Given the description of an element on the screen output the (x, y) to click on. 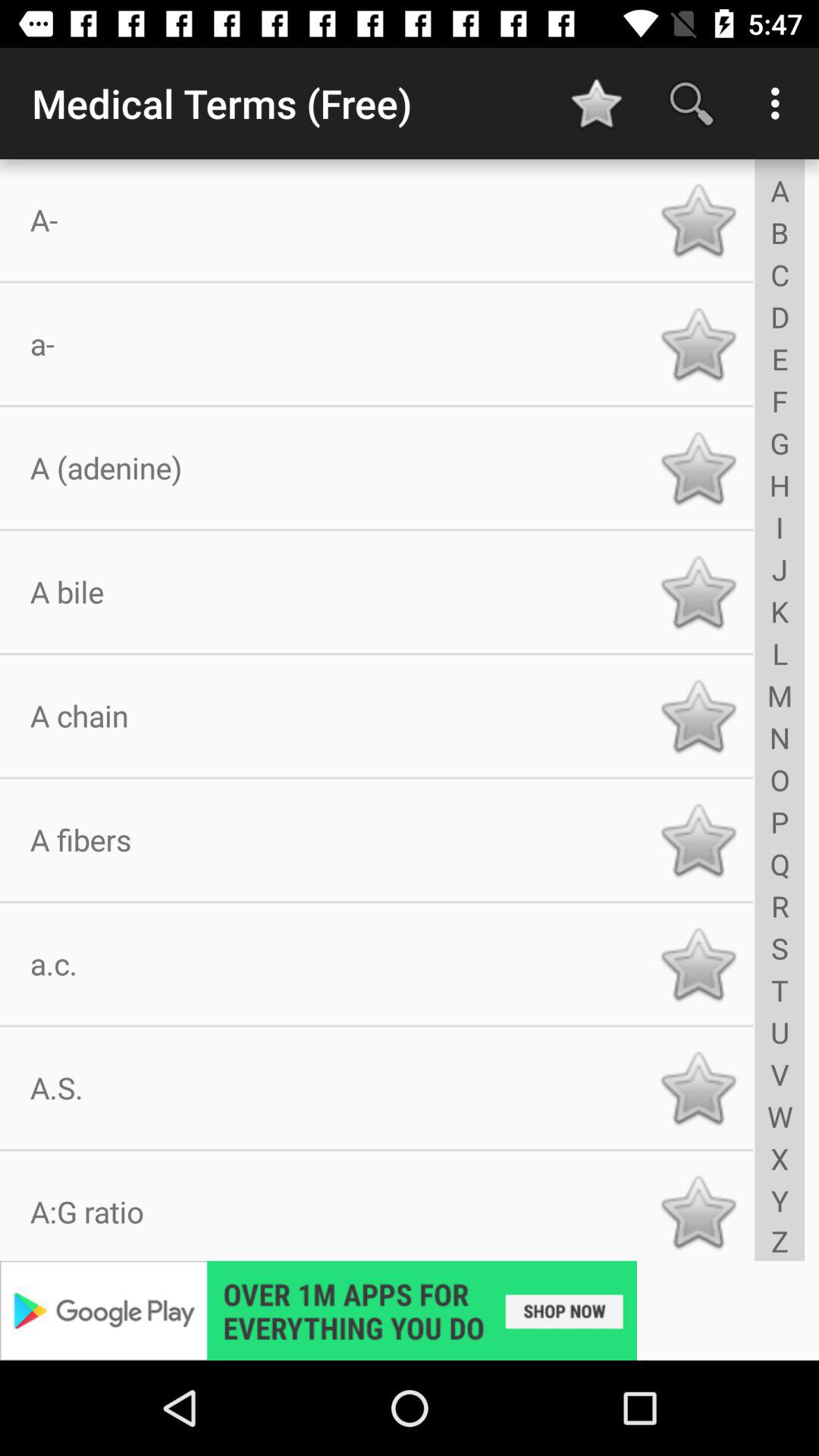
save term (697, 1087)
